Given the description of an element on the screen output the (x, y) to click on. 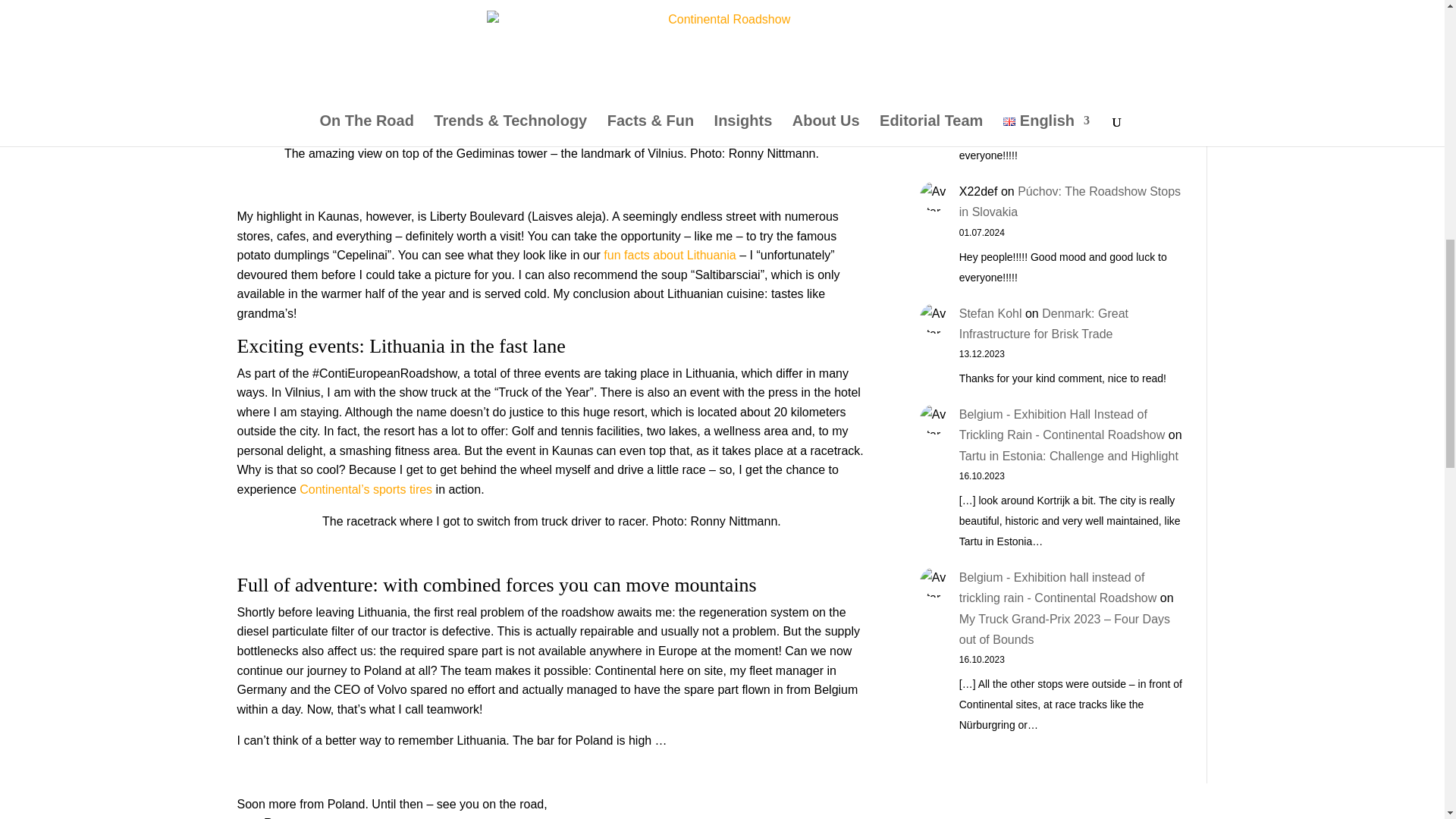
fun facts about Lithuania (669, 254)
